Given the description of an element on the screen output the (x, y) to click on. 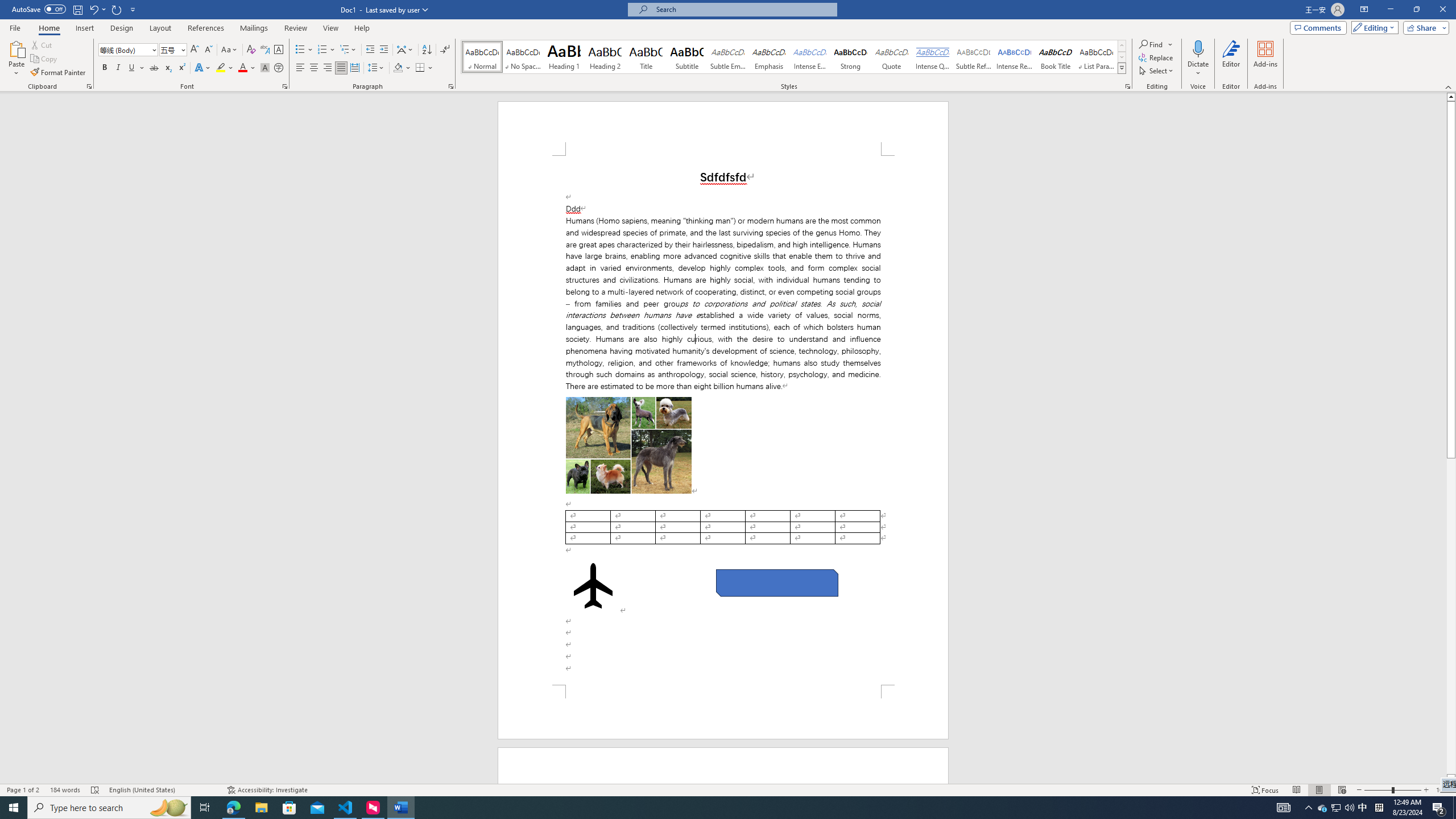
Shading (402, 67)
Mode (1372, 27)
Styles... (1127, 85)
Undo Italic (92, 9)
Distributed (354, 67)
Heading 2 (605, 56)
Accessibility Checker Accessibility: Investigate (266, 790)
Align Right (327, 67)
